Given the description of an element on the screen output the (x, y) to click on. 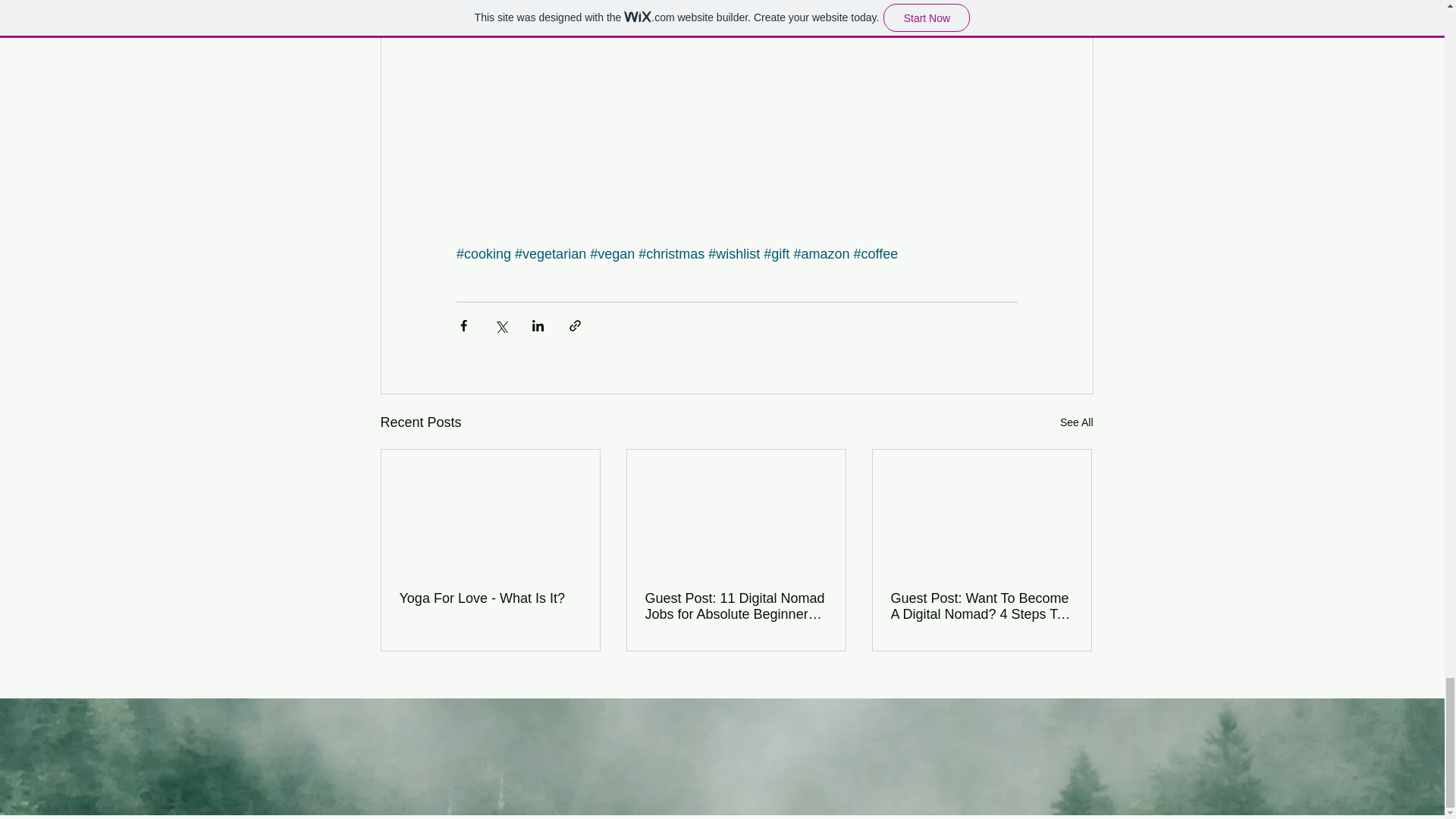
See All (1076, 422)
Yoga For Love - What Is It? (489, 598)
